Given the description of an element on the screen output the (x, y) to click on. 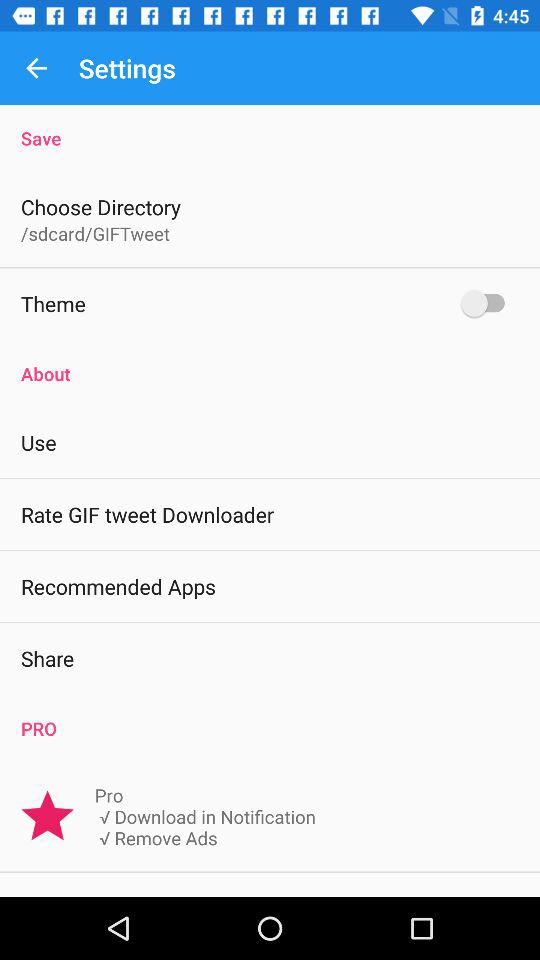
scroll until the save item (270, 127)
